Given the description of an element on the screen output the (x, y) to click on. 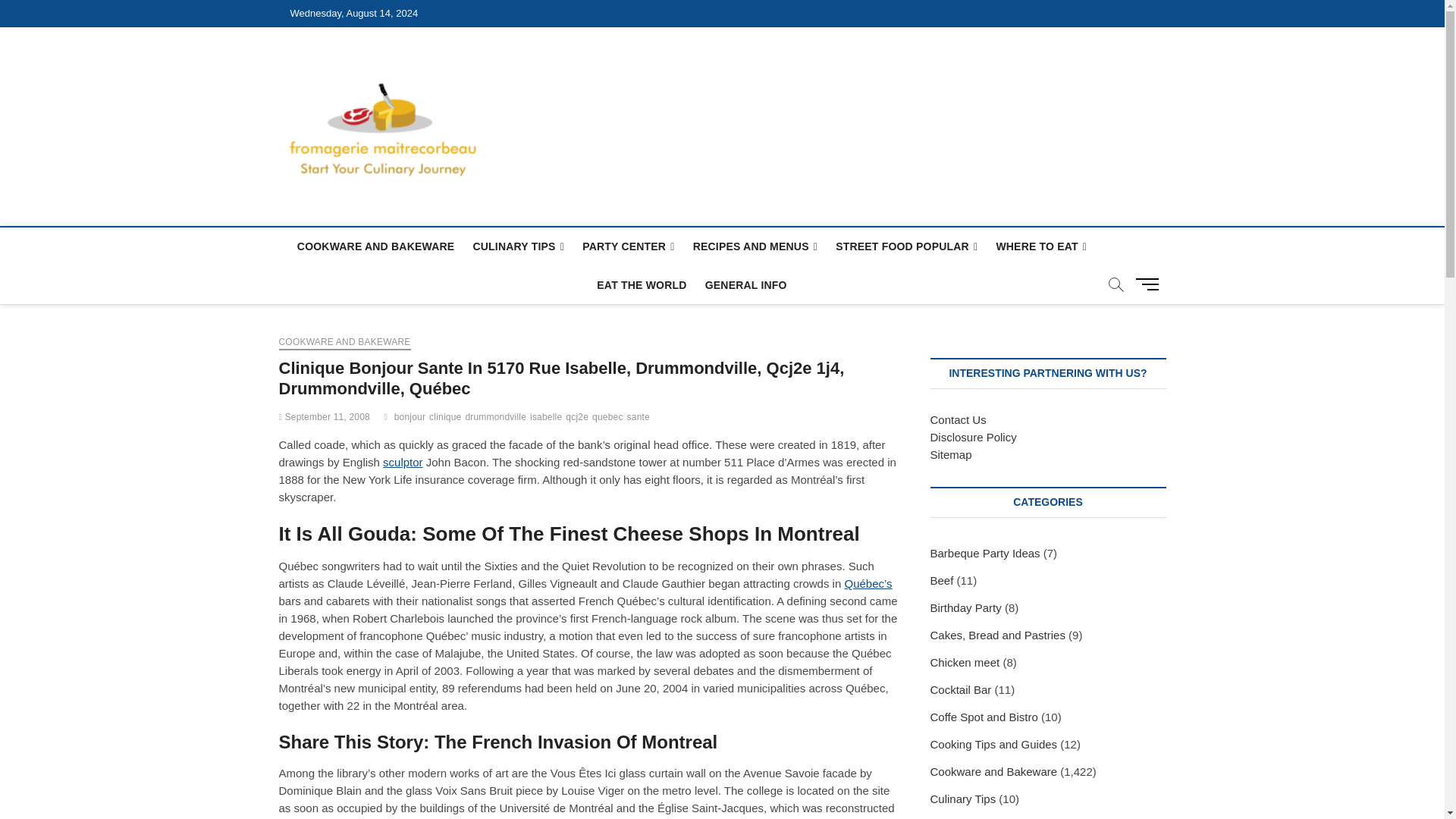
September 11, 2008 (324, 416)
COOKWARE AND BAKEWARE (375, 246)
fromagerie-maitrecorbeau (636, 78)
CULINARY TIPS (518, 246)
fromagerie-maitrecorbeau (636, 78)
RECIPES AND MENUS (755, 246)
STREET FOOD POPULAR (906, 246)
PARTY CENTER (628, 246)
